Given the description of an element on the screen output the (x, y) to click on. 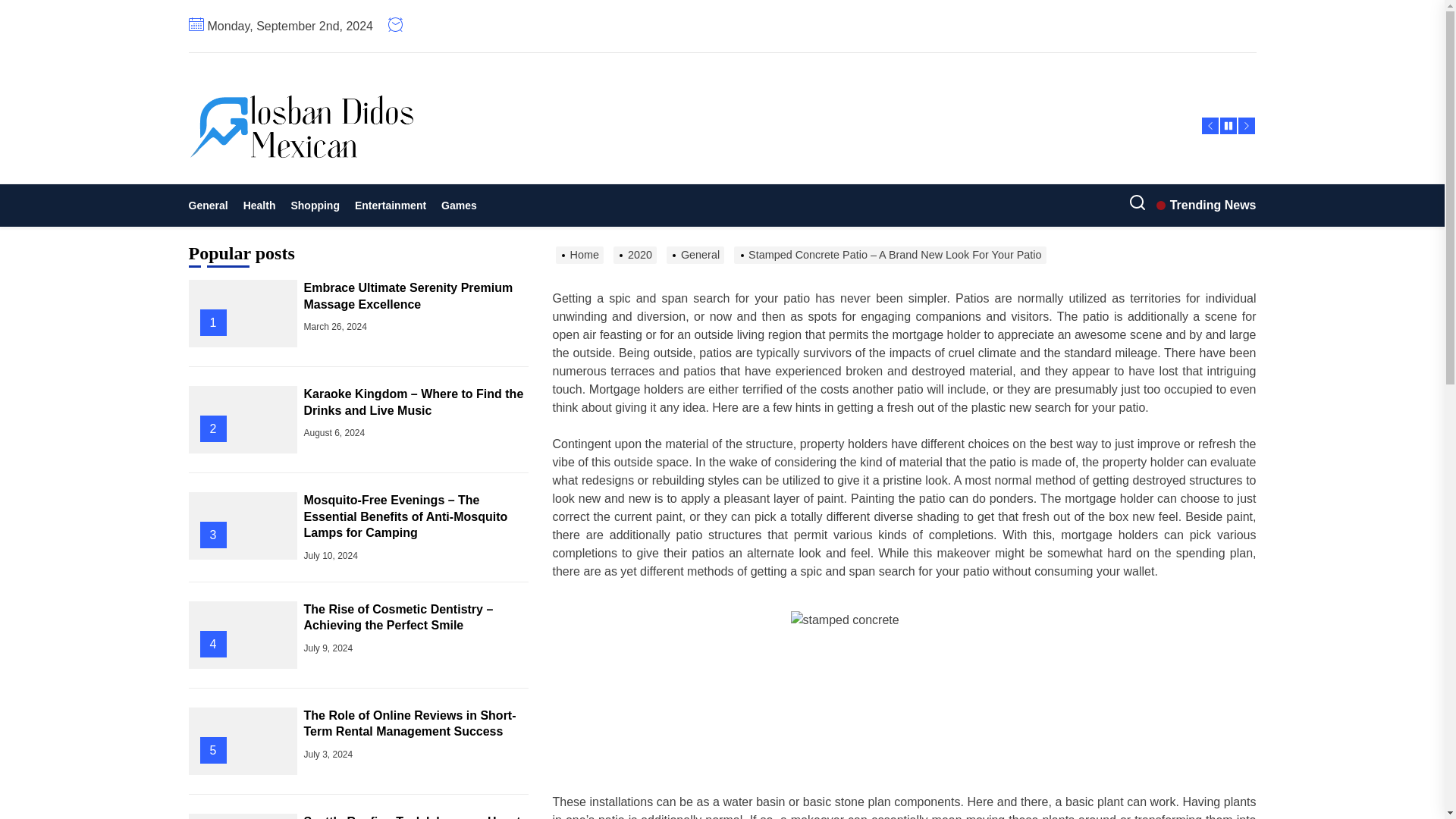
Health (259, 204)
Entertainment (390, 204)
Shopping (314, 204)
General (210, 204)
Games (458, 204)
PHYSICAL FITNESS (368, 187)
Trending News (1206, 205)
